Given the description of an element on the screen output the (x, y) to click on. 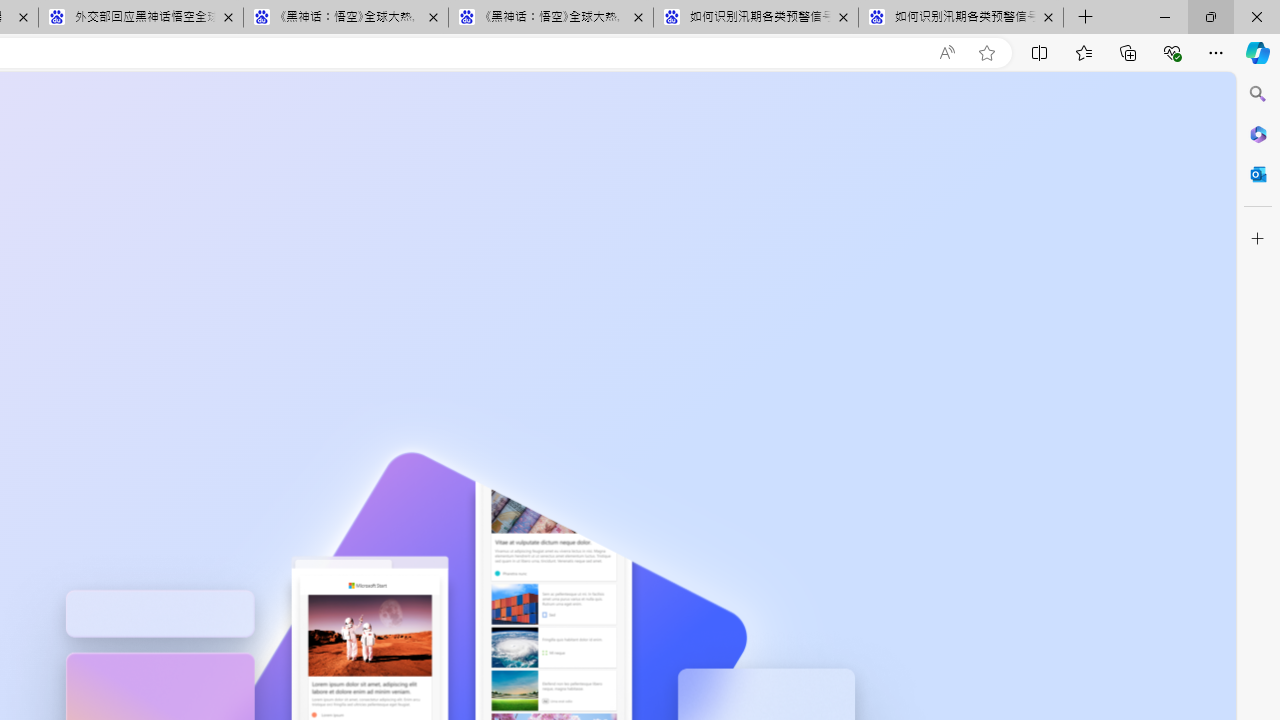
Microsoft 365 (1258, 133)
